Given the description of an element on the screen output the (x, y) to click on. 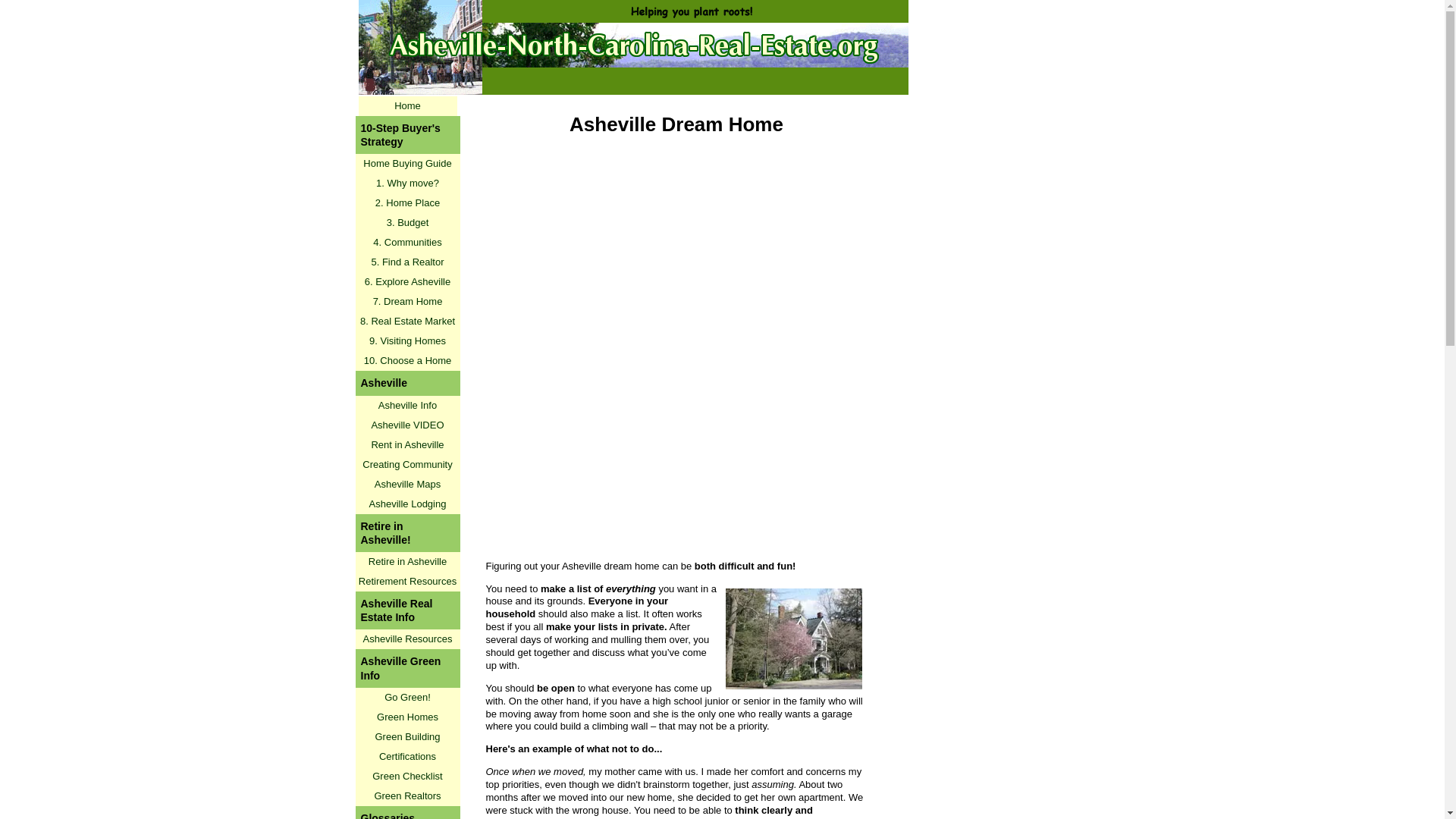
Certifications (407, 756)
Green Building (407, 736)
Retire in Asheville (407, 561)
4. Communities (407, 242)
8. Real Estate Market (407, 321)
3. Budget (407, 222)
Home (407, 106)
Asheville VIDEO (407, 424)
10. Choose a Home (407, 361)
7. Dream Home (407, 301)
